Given the description of an element on the screen output the (x, y) to click on. 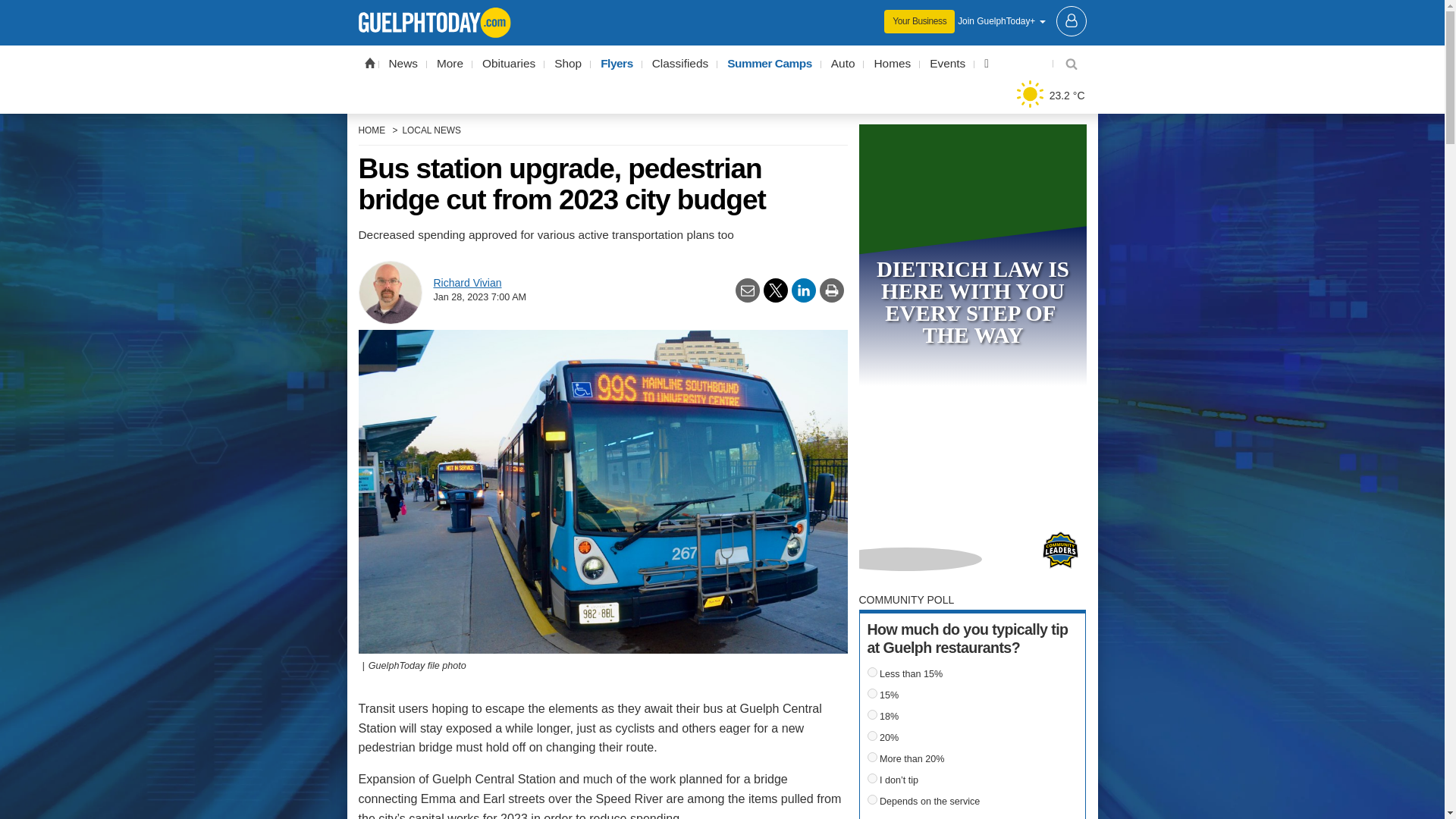
Home (368, 62)
122725 (872, 736)
122728 (872, 799)
122726 (872, 757)
122727 (872, 777)
122723 (872, 693)
122724 (872, 714)
3rd party ad content (722, 10)
News (403, 64)
122722 (872, 672)
Your Business (919, 21)
